Given the description of an element on the screen output the (x, y) to click on. 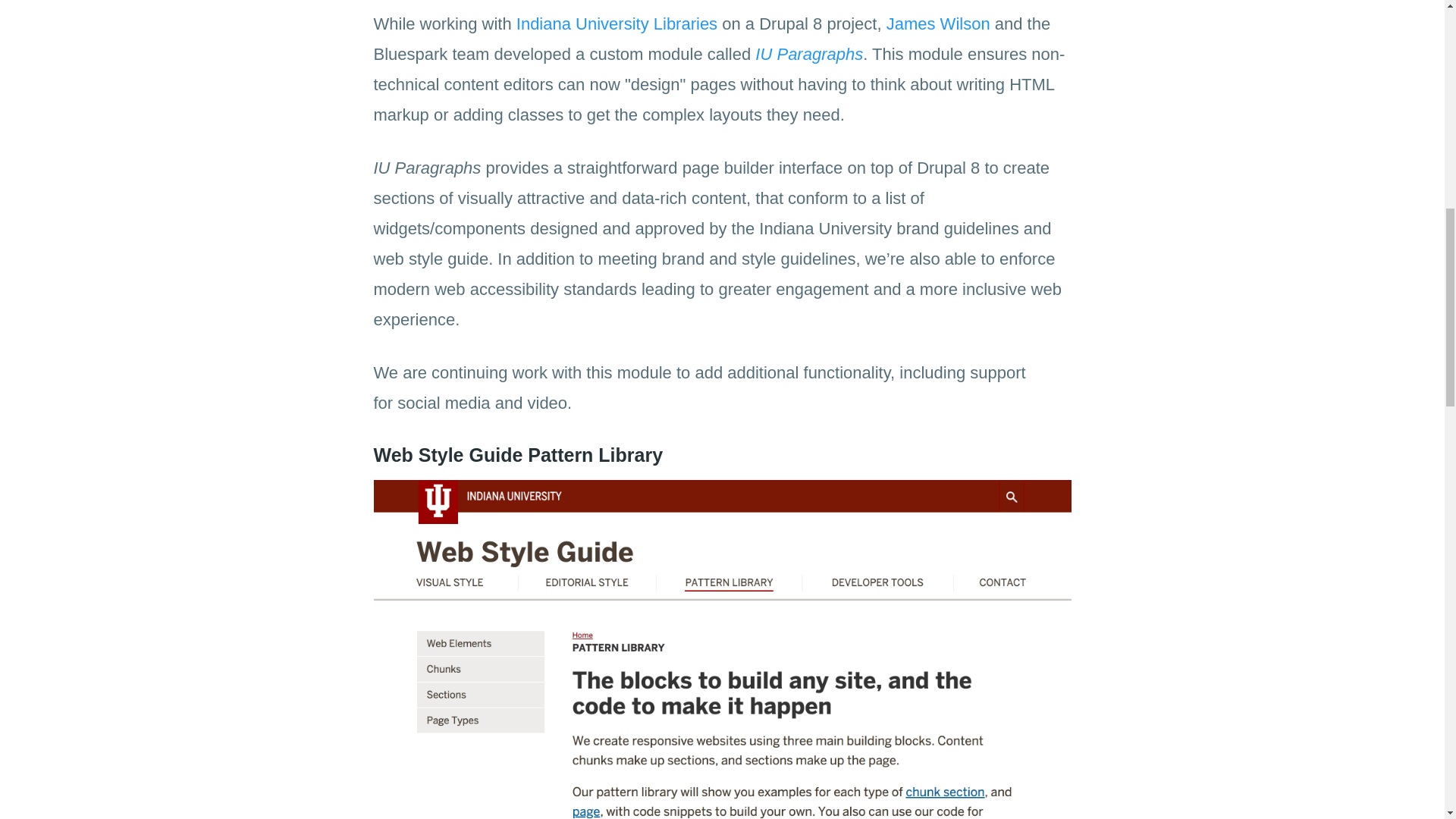
Indiana University Libraries (616, 23)
IU Paragraphs (809, 54)
James Wilson (938, 23)
